Given the description of an element on the screen output the (x, y) to click on. 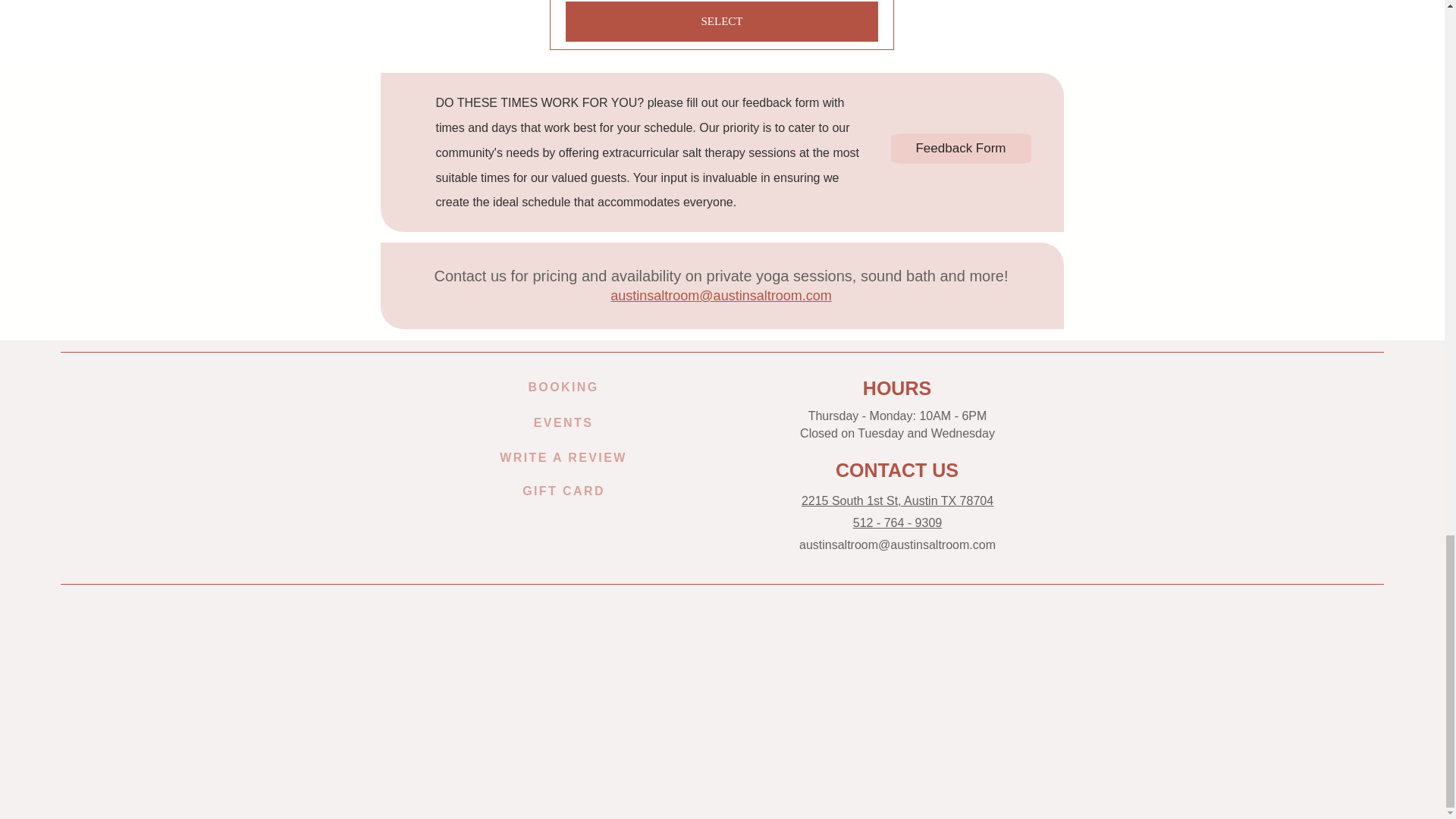
512 - 764 - 9309 (897, 522)
Feedback Form (959, 148)
WRITE A REVIEW (563, 458)
SELECT (721, 21)
EVENTS (563, 422)
BOOKING (563, 387)
GIFT CARD (563, 490)
2215 South 1st St, Austin TX 78704 (897, 500)
